Given the description of an element on the screen output the (x, y) to click on. 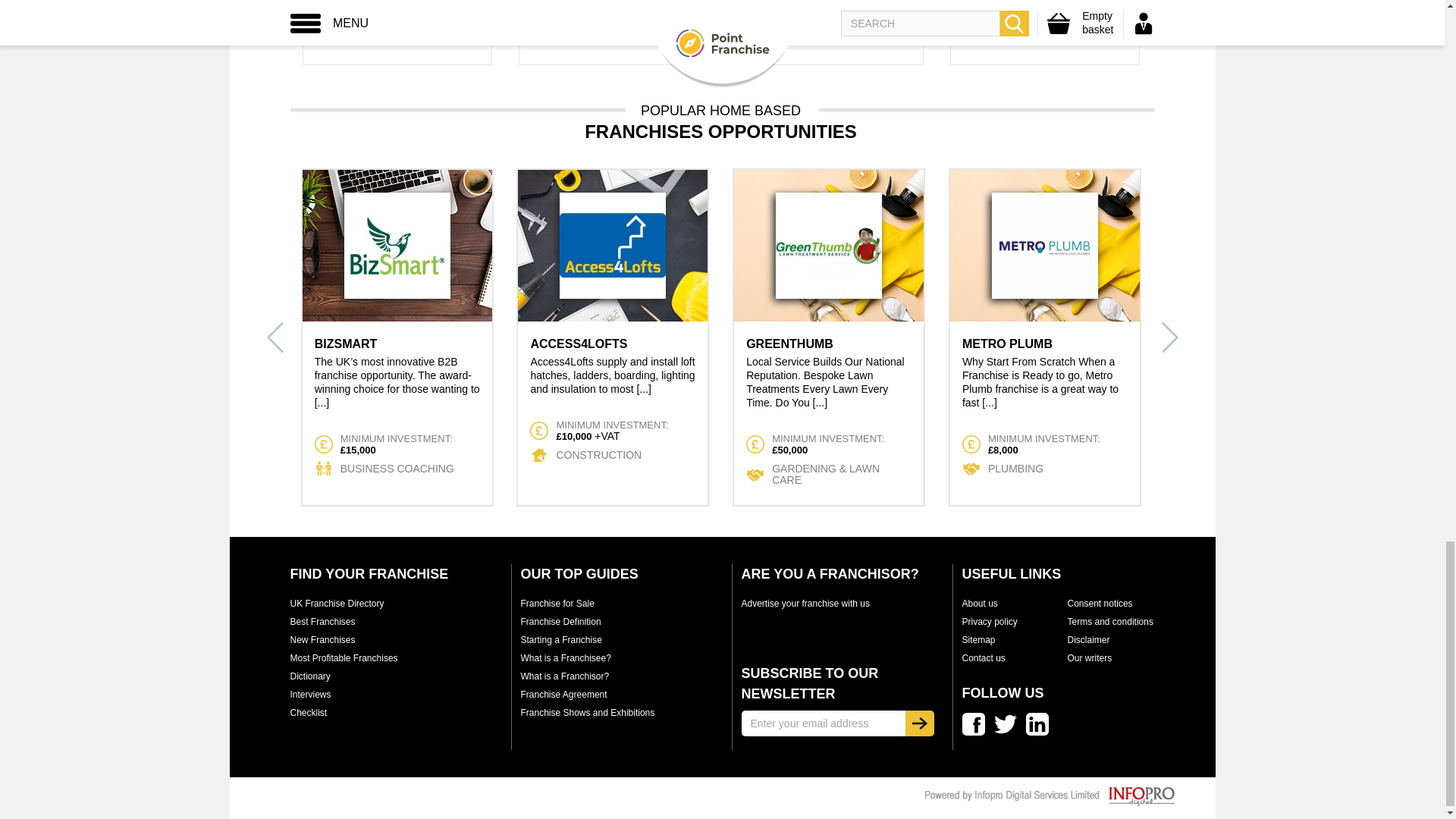
Find the most profitable UK franchises (343, 657)
Checklist (307, 712)
Discover the newest franchises (322, 639)
Discover UK's best franchises (322, 621)
Interviews (309, 694)
The full UK franchise directory (336, 603)
Dictionary (309, 675)
